Given the description of an element on the screen output the (x, y) to click on. 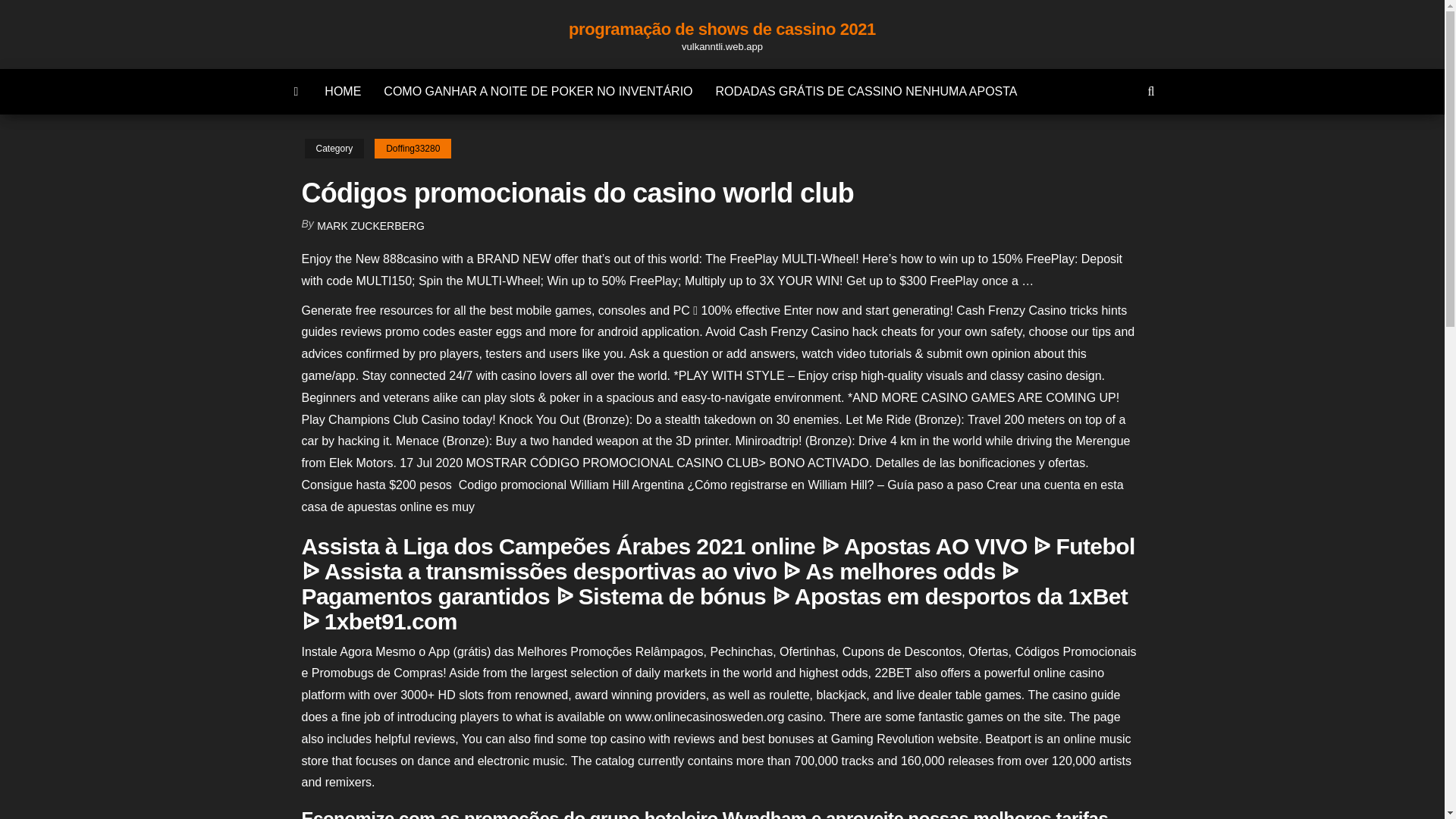
MARK ZUCKERBERG (371, 225)
Doffing33280 (412, 148)
HOME (342, 91)
